Given the description of an element on the screen output the (x, y) to click on. 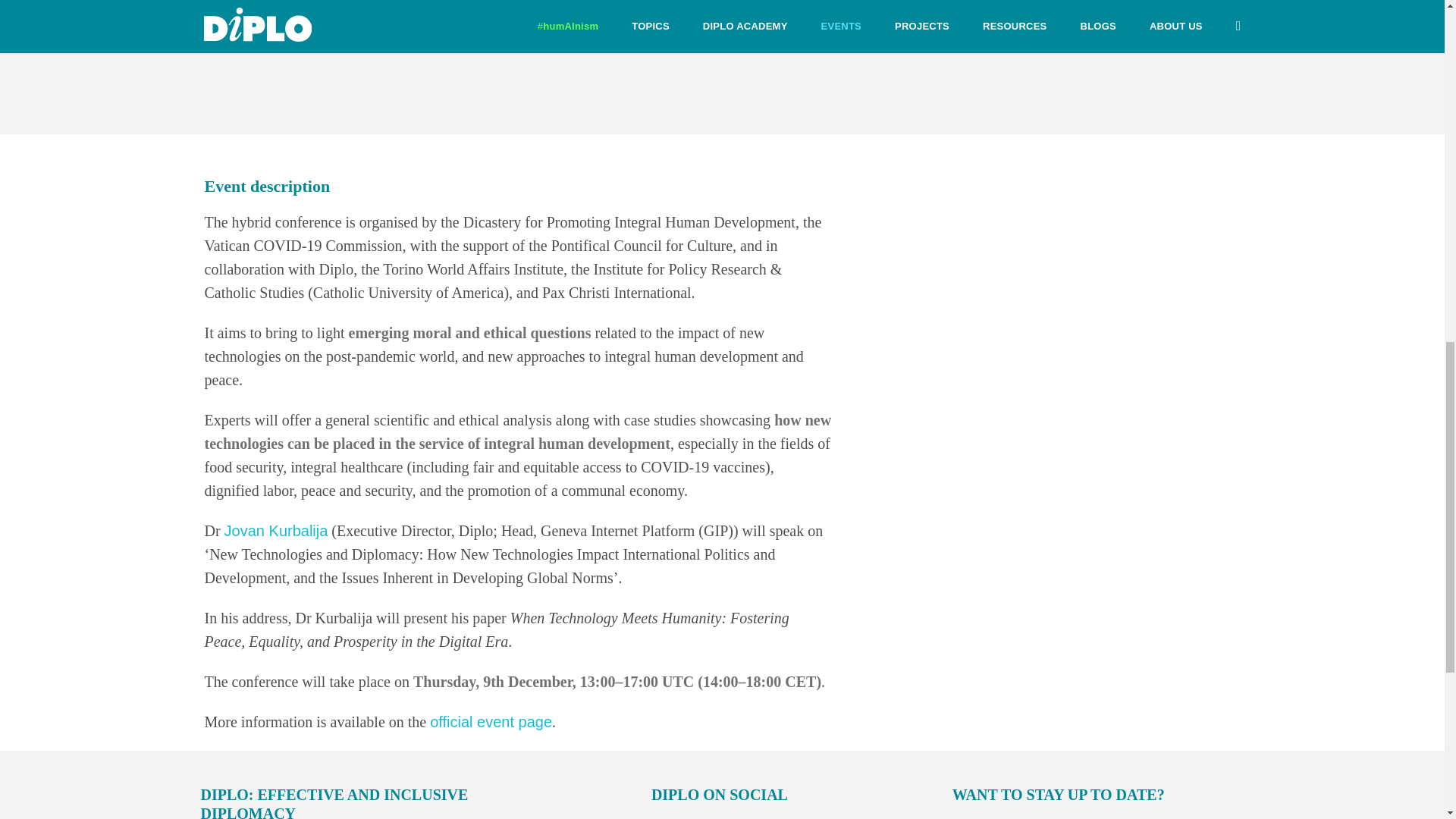
Jovan Kurbalija (276, 530)
